Given the description of an element on the screen output the (x, y) to click on. 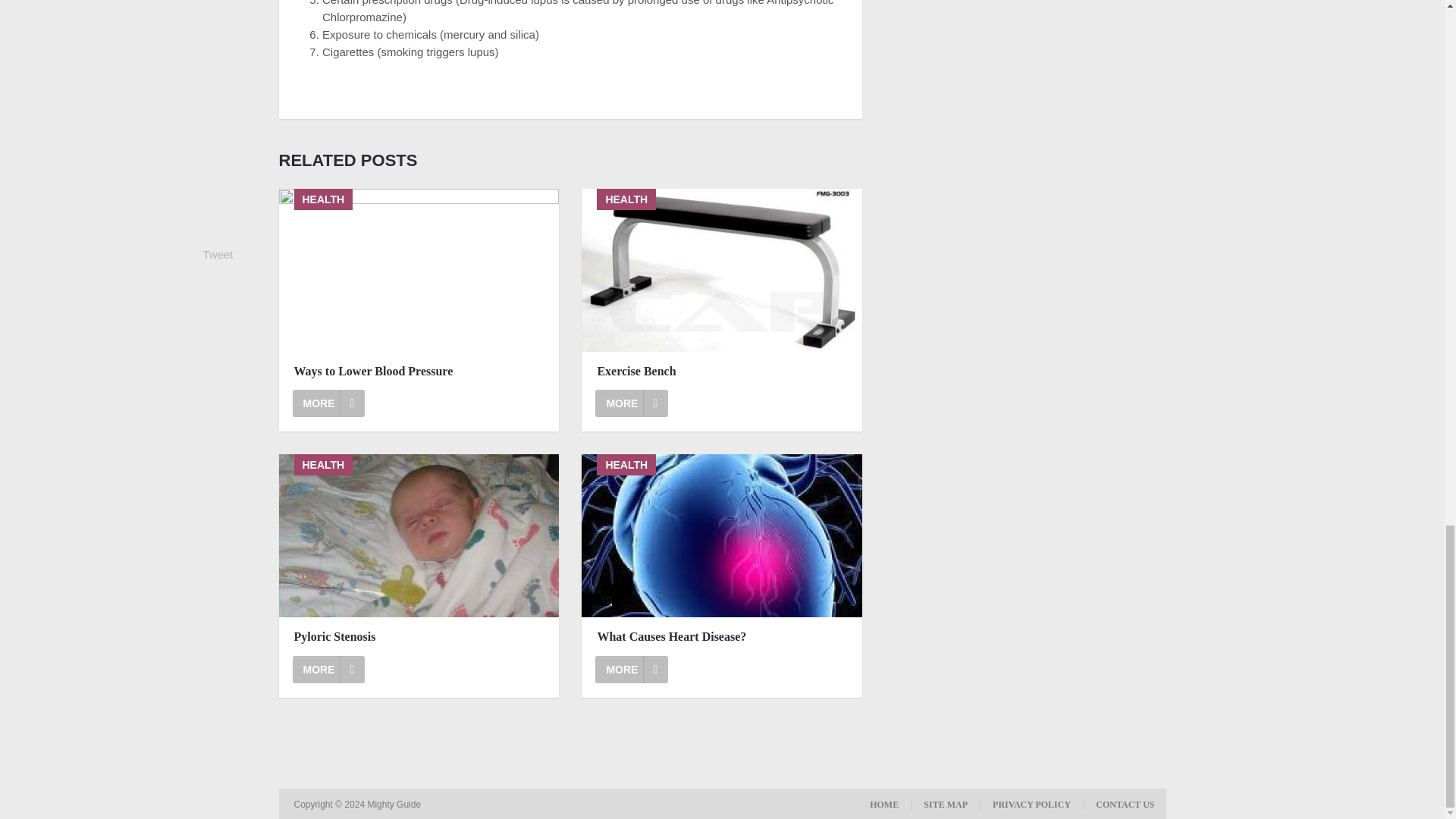
What Causes Heart Disease? (721, 636)
Pyloric Stenosis (419, 636)
HEALTH (720, 270)
Ways to Lower Blood Pressure (419, 371)
HEALTH (419, 535)
MORE (631, 402)
What Causes Heart Disease? (721, 636)
Ways to Lower Blood Pressure (419, 371)
What Causes Heart Disease? (720, 535)
Pyloric Stenosis (328, 669)
Pyloric Stenosis (419, 535)
MORE (631, 669)
Pyloric Stenosis (419, 636)
Ways to Lower Blood Pressure (328, 402)
Exercise Bench (720, 270)
